Given the description of an element on the screen output the (x, y) to click on. 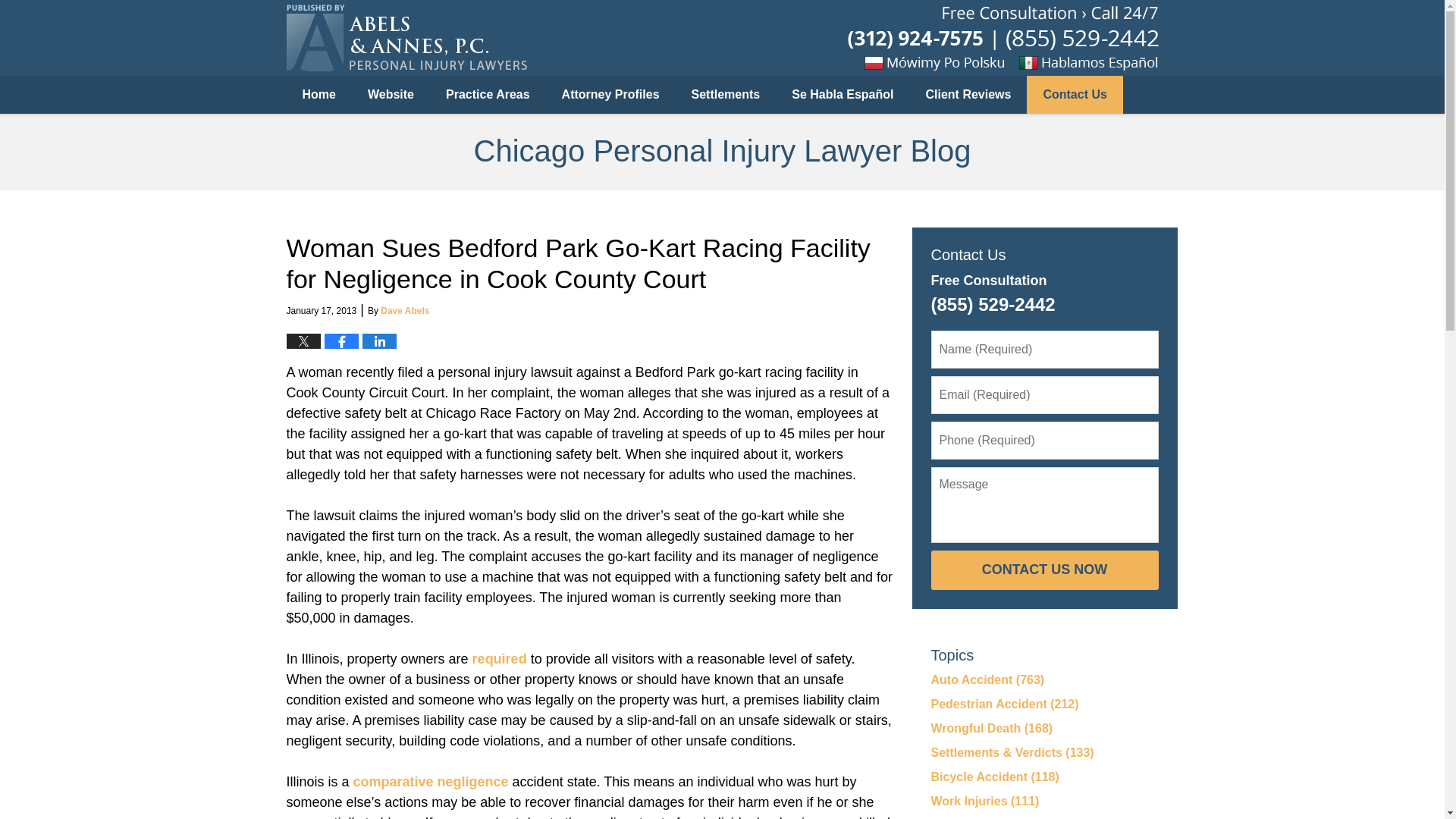
Dave Abels (404, 310)
Se habla espanol (1119, 61)
Chicago Personal Injury Lawyer Blog (406, 37)
Settlements (725, 94)
Mowimy po polsku (945, 61)
Practice Areas (487, 94)
Contact Us (1074, 94)
Home (319, 94)
Website (390, 94)
Please enter a valid phone number. (1044, 440)
